Given the description of an element on the screen output the (x, y) to click on. 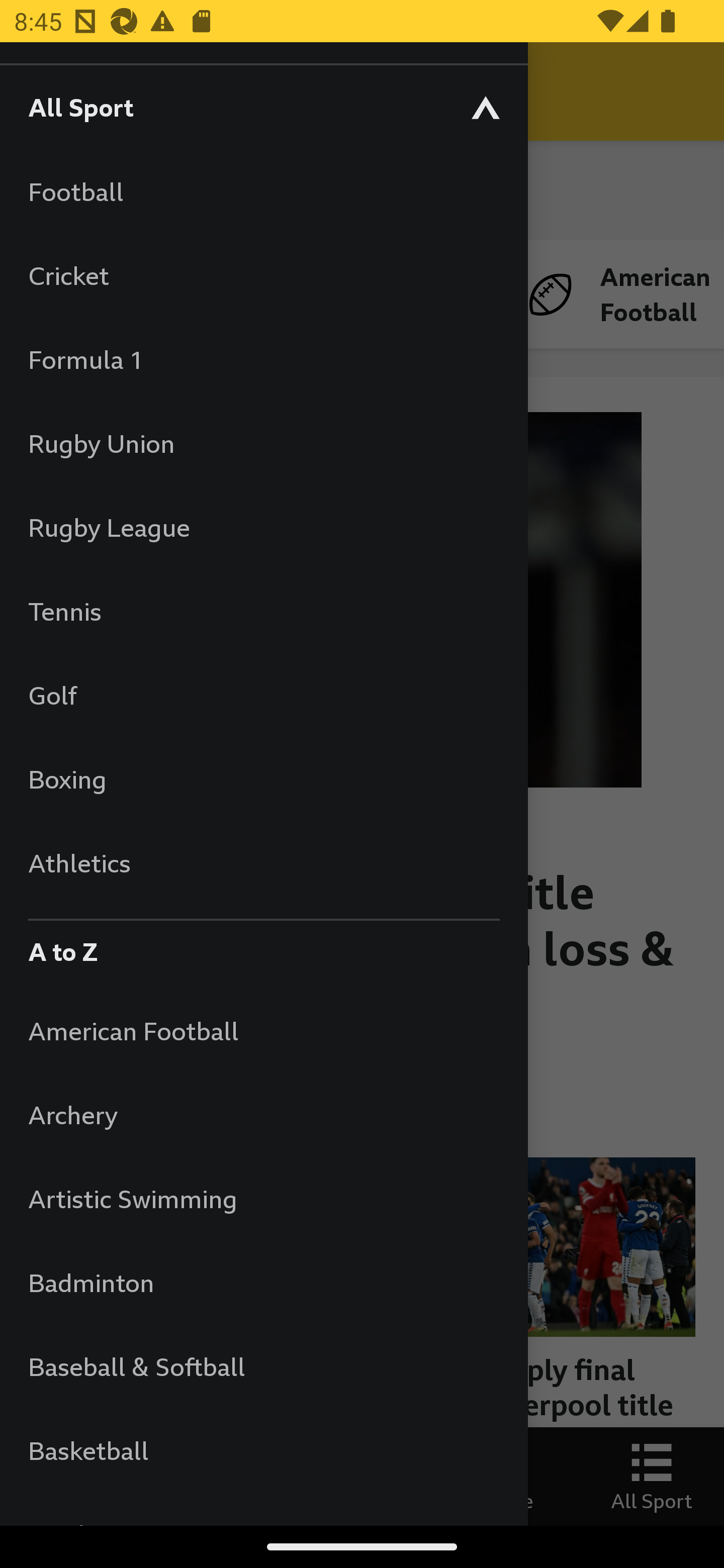
All Sport (263, 106)
Football (263, 190)
Cricket (263, 275)
Formula 1 (263, 358)
Rugby Union (263, 443)
Rugby League (263, 526)
Tennis (263, 611)
Golf (263, 694)
Boxing (263, 778)
Athletics (263, 862)
A to Z (263, 946)
American Football (263, 1029)
Archery (263, 1114)
Artistic Swimming (263, 1198)
Badminton (263, 1282)
Baseball & Softball (263, 1366)
Basketball (263, 1450)
